Given the description of an element on the screen output the (x, y) to click on. 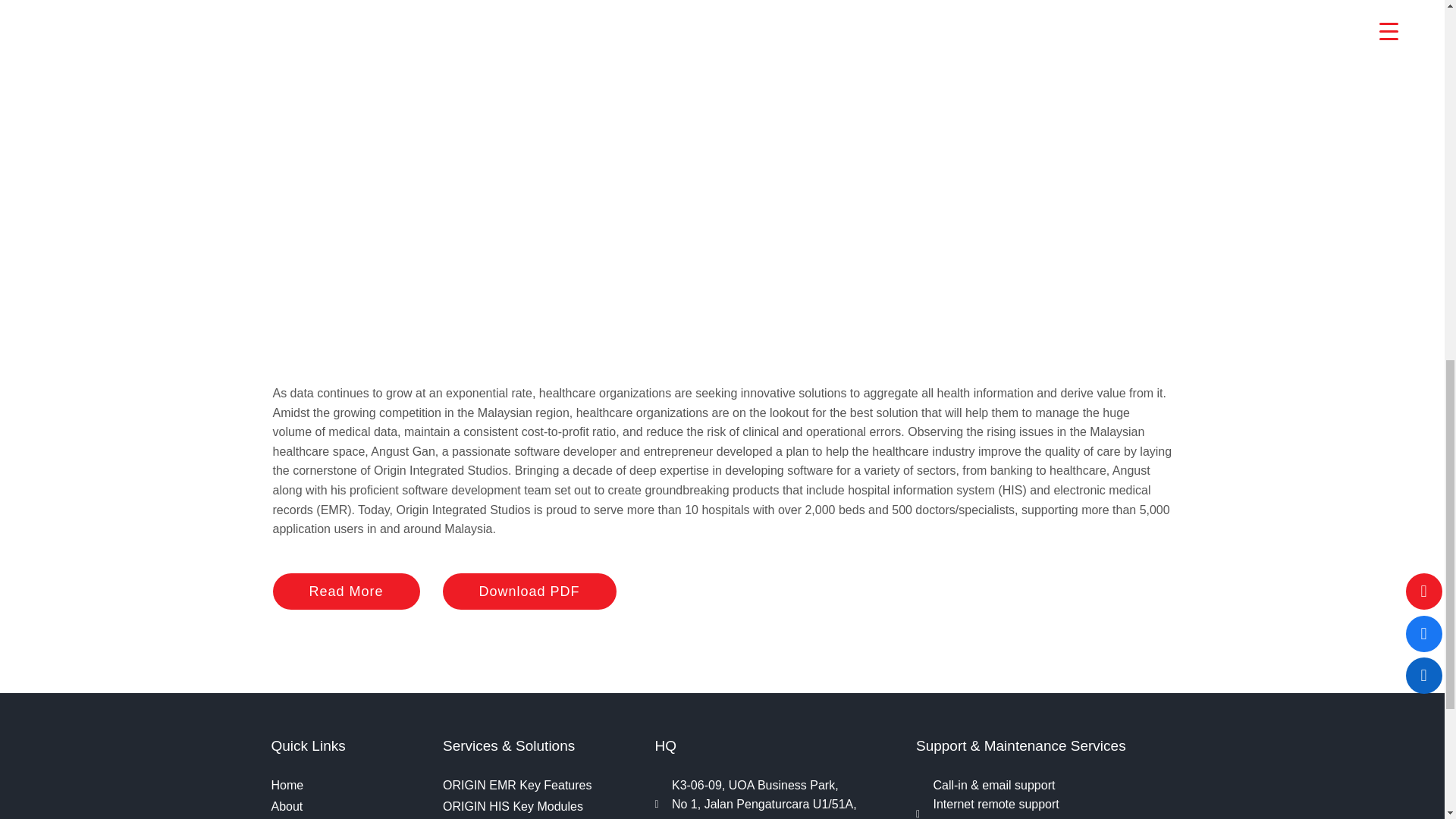
Home (349, 785)
Read More (346, 591)
About (349, 806)
Download PDF (528, 591)
